Given the description of an element on the screen output the (x, y) to click on. 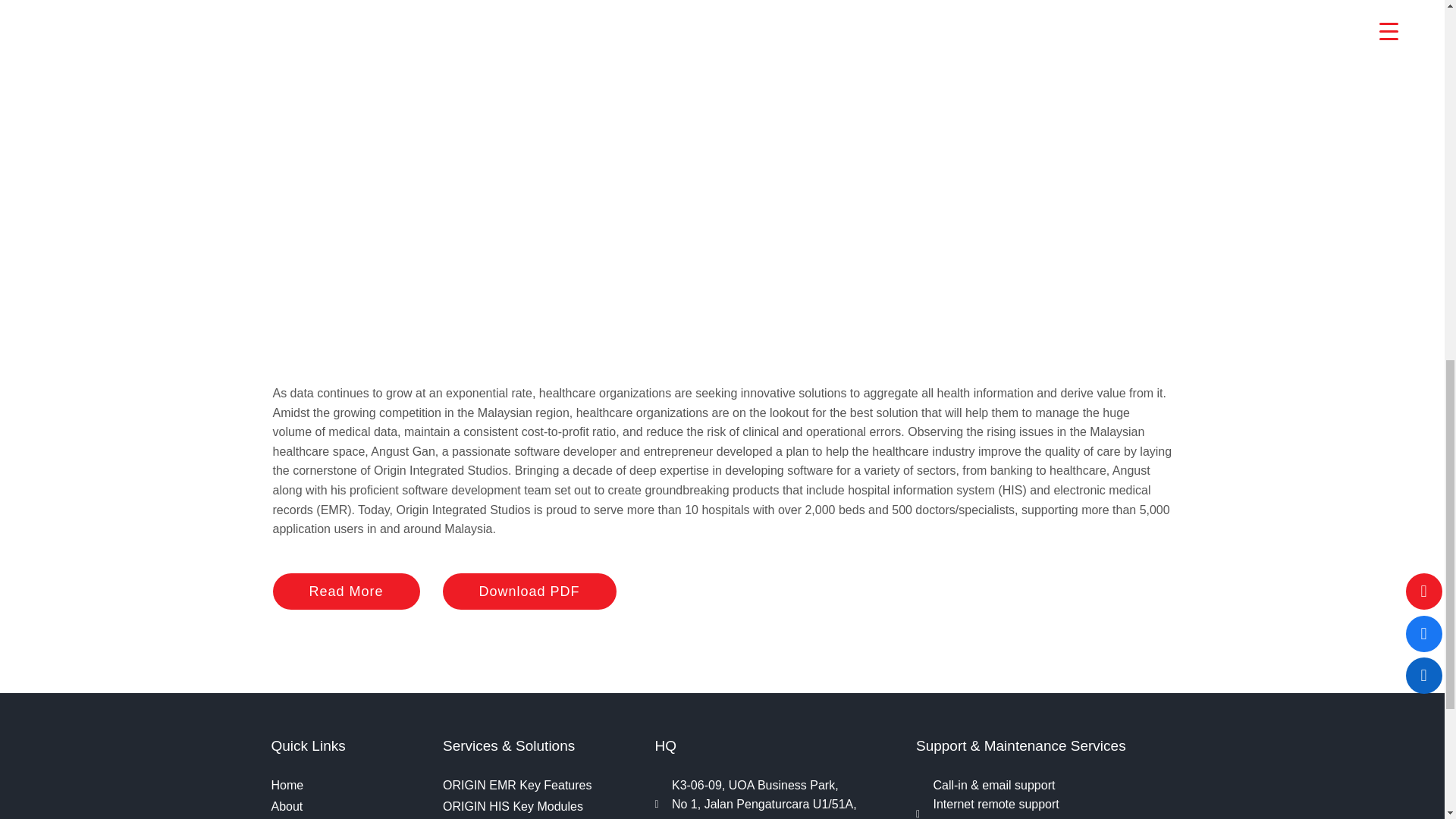
Home (349, 785)
Read More (346, 591)
About (349, 806)
Download PDF (528, 591)
